Given the description of an element on the screen output the (x, y) to click on. 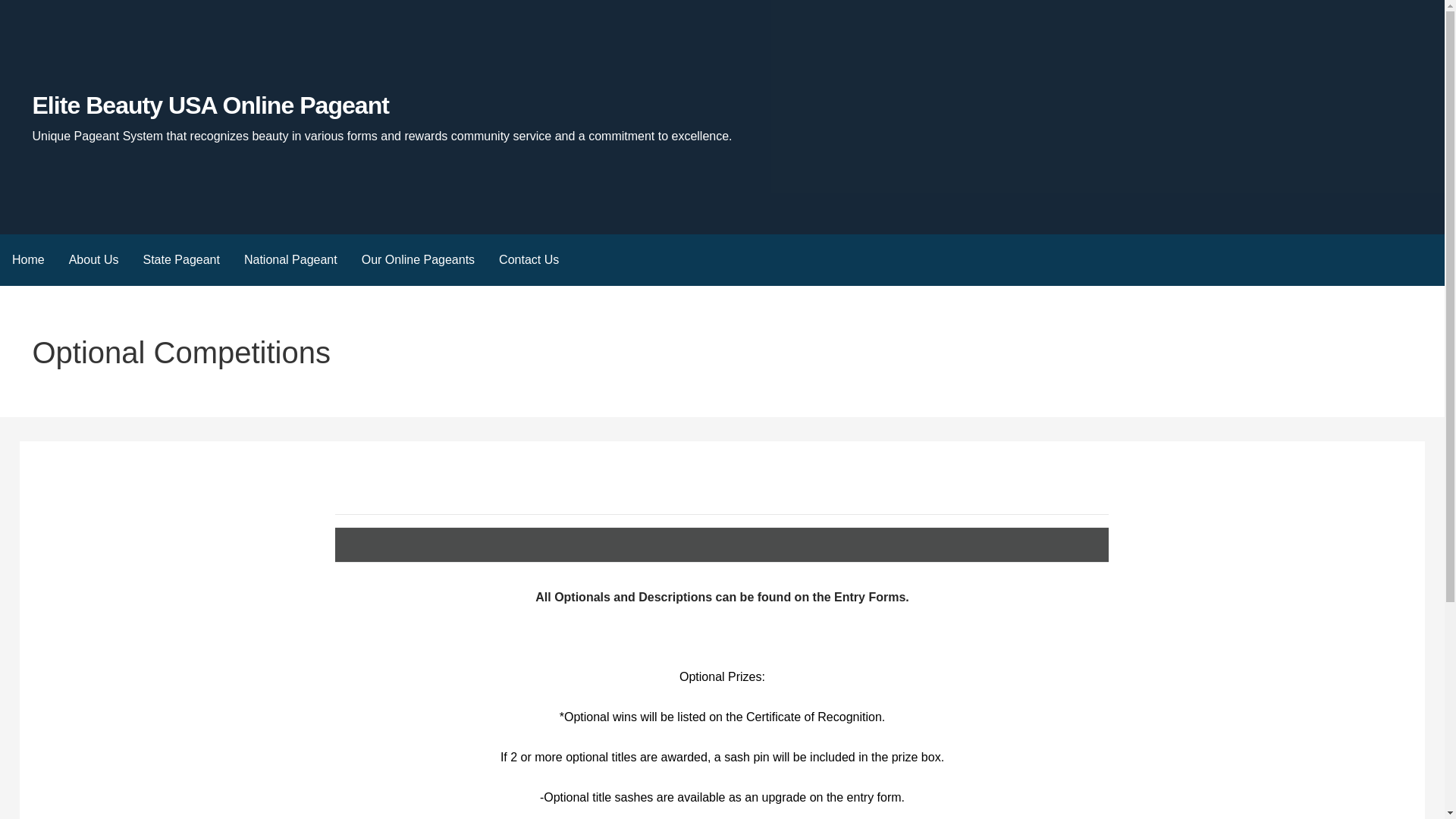
National Pageant (290, 259)
About Us (93, 259)
Our Online Pageants (417, 259)
Home (28, 259)
Elite Beauty USA Online Pageant (210, 104)
State Pageant (181, 259)
Contact Us (528, 259)
